Given the description of an element on the screen output the (x, y) to click on. 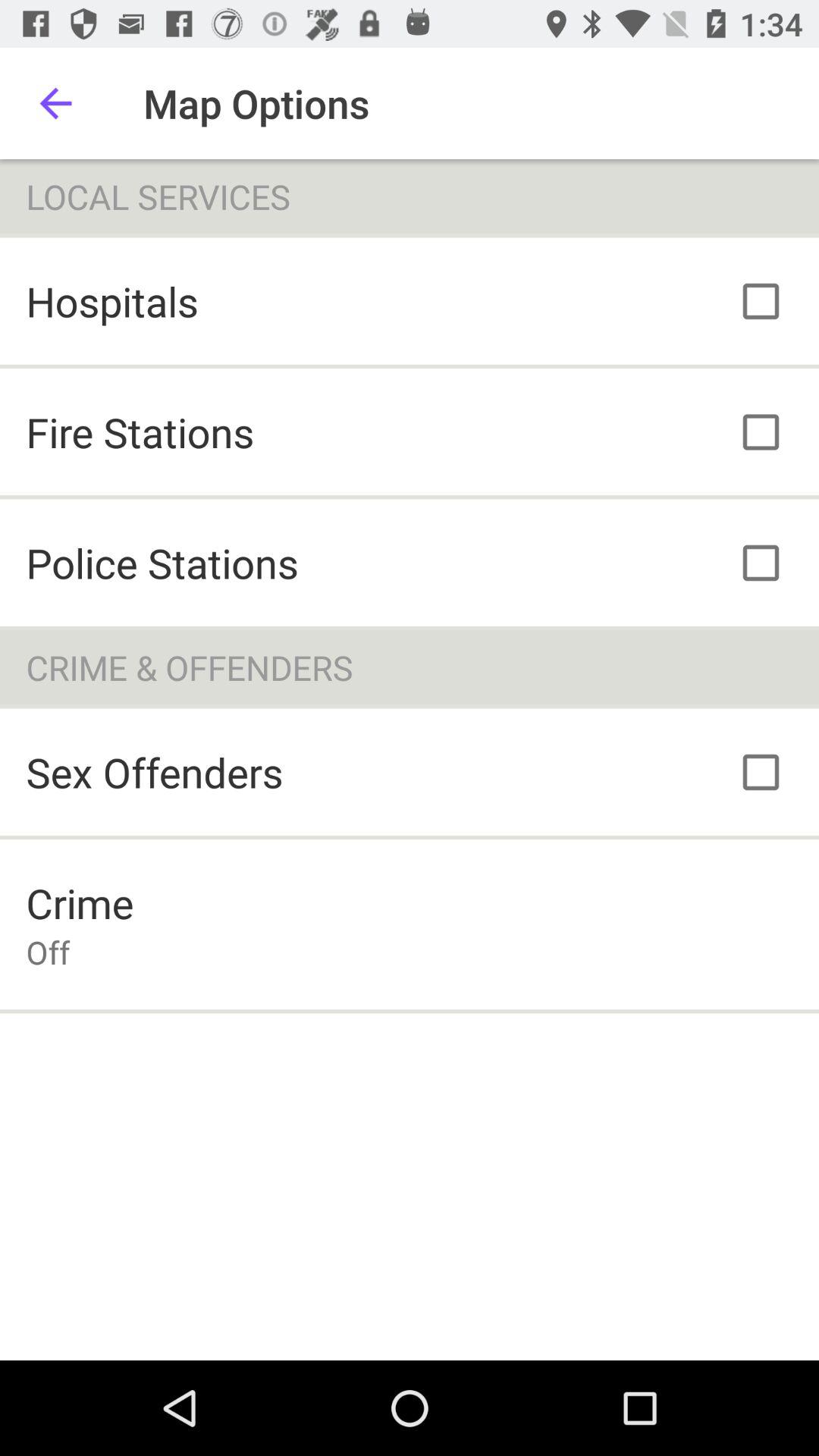
press crime & offenders item (409, 667)
